Given the description of an element on the screen output the (x, y) to click on. 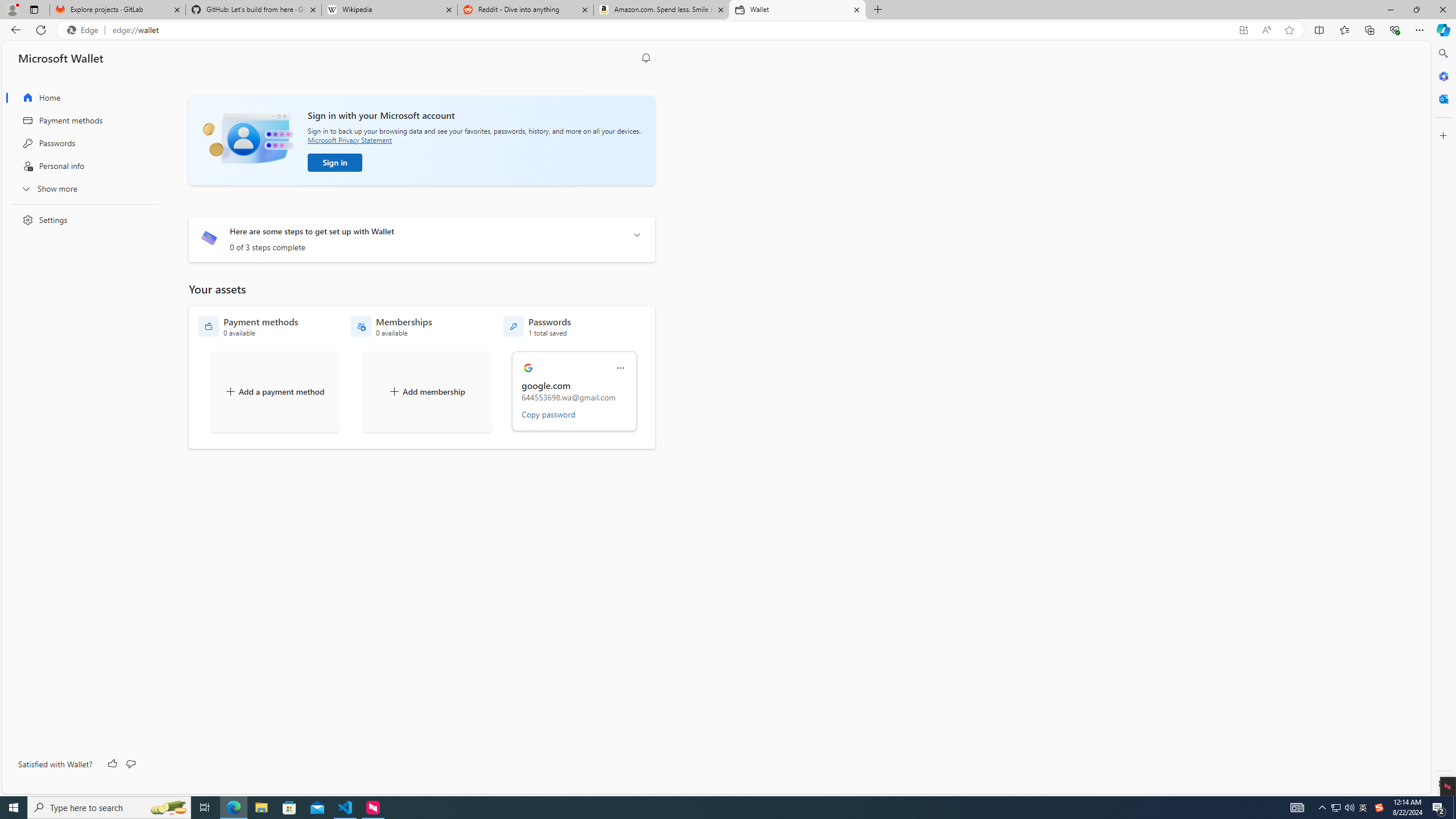
Address and search bar (672, 29)
Passwords (81, 142)
Customize (1442, 135)
Passwords - 1 total saved (537, 326)
Like (112, 764)
Copy password (548, 414)
Microsoft Privacy Statement (349, 139)
Notification (646, 58)
More actions google.com 644553698.wa@gmail.com Copy password (574, 391)
Amazon.com. Spend less. Smile more. (660, 9)
Payment methods - 0 available (248, 326)
Show more (81, 188)
Edge (84, 29)
